Given the description of an element on the screen output the (x, y) to click on. 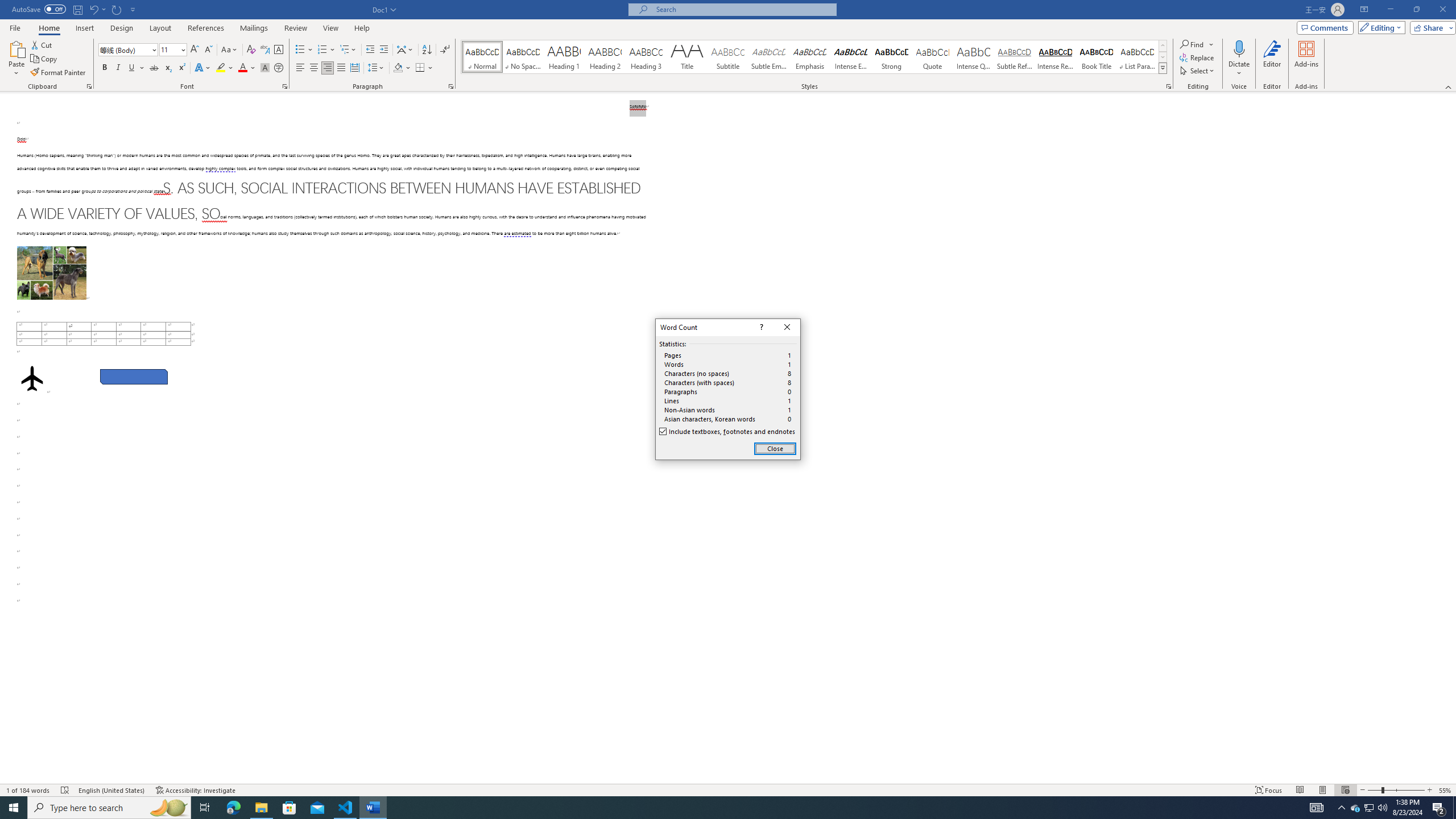
Strong (891, 56)
